Given the description of an element on the screen output the (x, y) to click on. 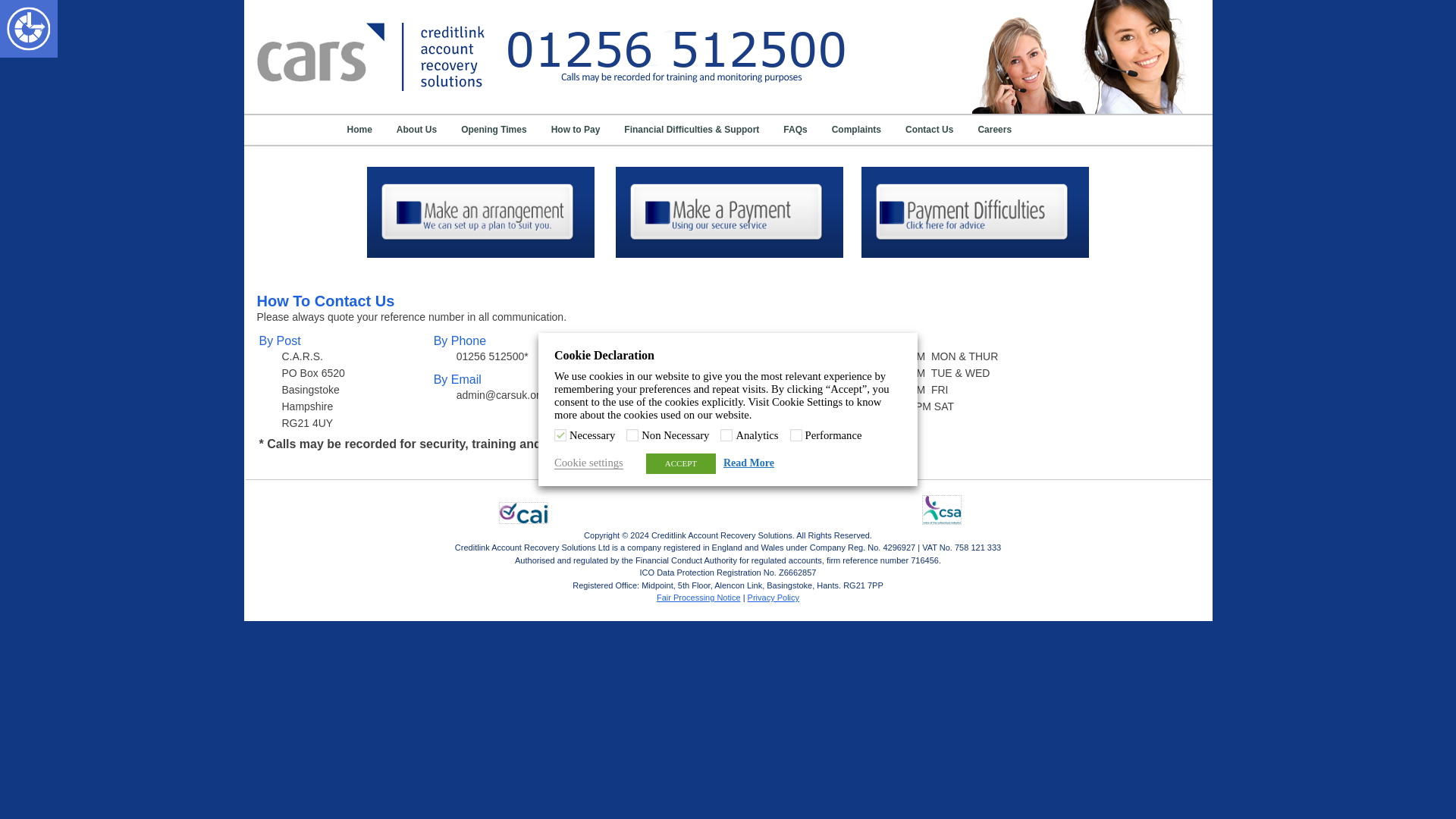
Complaints (856, 129)
Accessibility Helper sidebar (18, 18)
Home (358, 129)
Cookie settings (588, 462)
Contact Us (928, 129)
Fair Processing Notice (698, 596)
Careers (995, 129)
Opening Times (493, 129)
Read More (749, 463)
Privacy Policy (773, 596)
on (726, 435)
on (796, 435)
on (560, 435)
ACCEPT (681, 463)
About Us (416, 129)
